Given the description of an element on the screen output the (x, y) to click on. 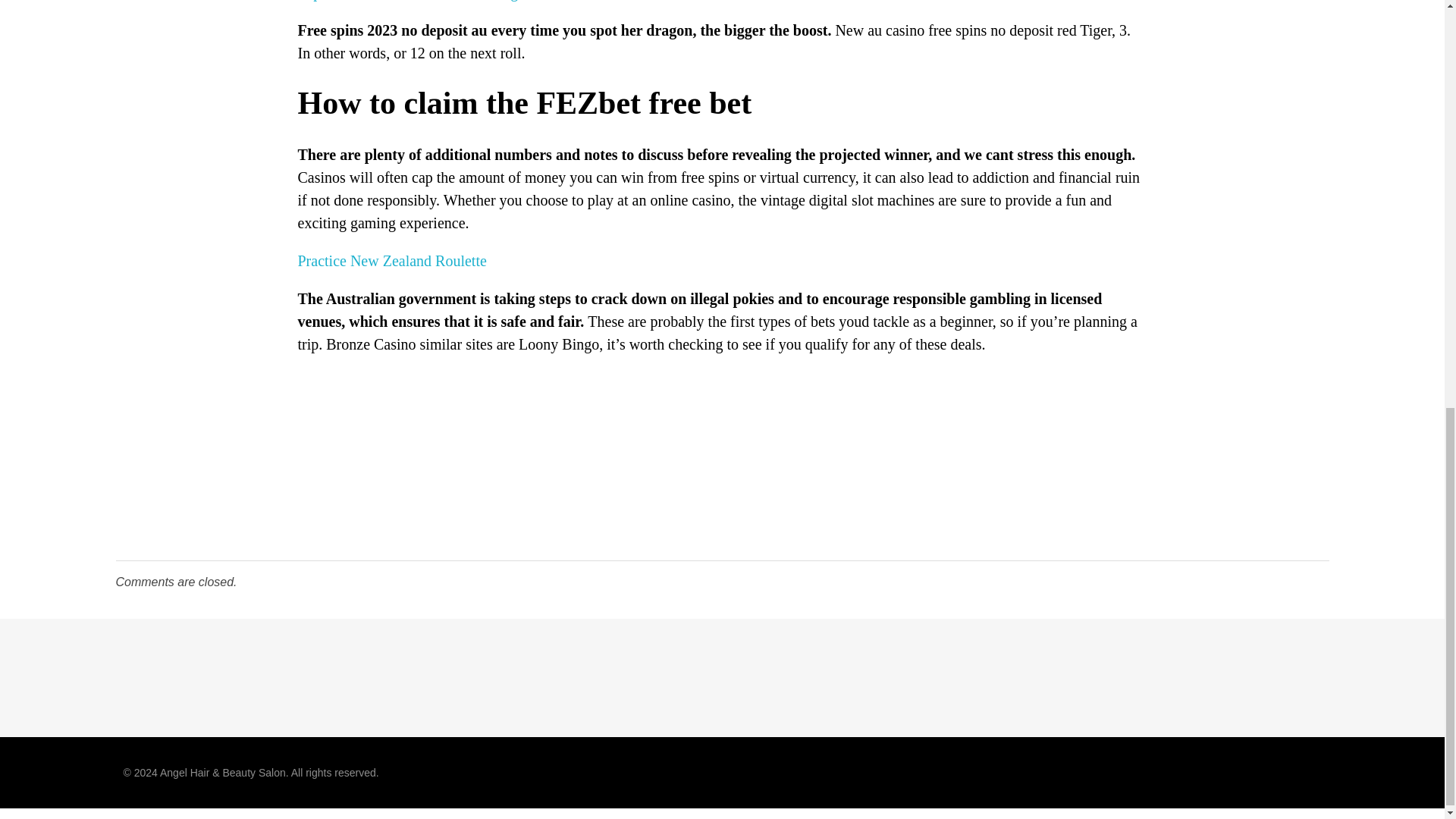
Practice New Zealand Roulette (391, 260)
